Given the description of an element on the screen output the (x, y) to click on. 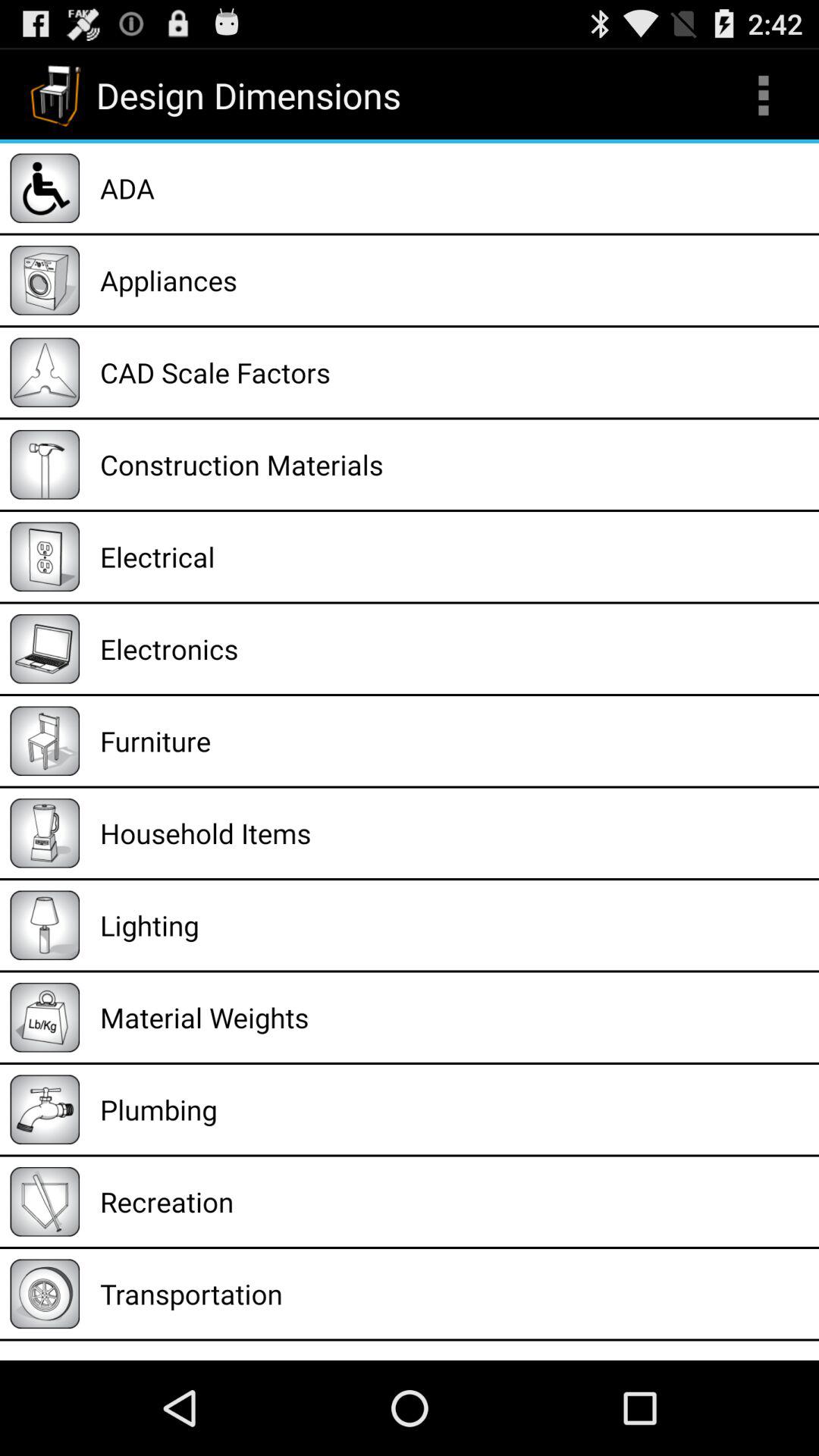
turn off construction materials icon (454, 464)
